Given the description of an element on the screen output the (x, y) to click on. 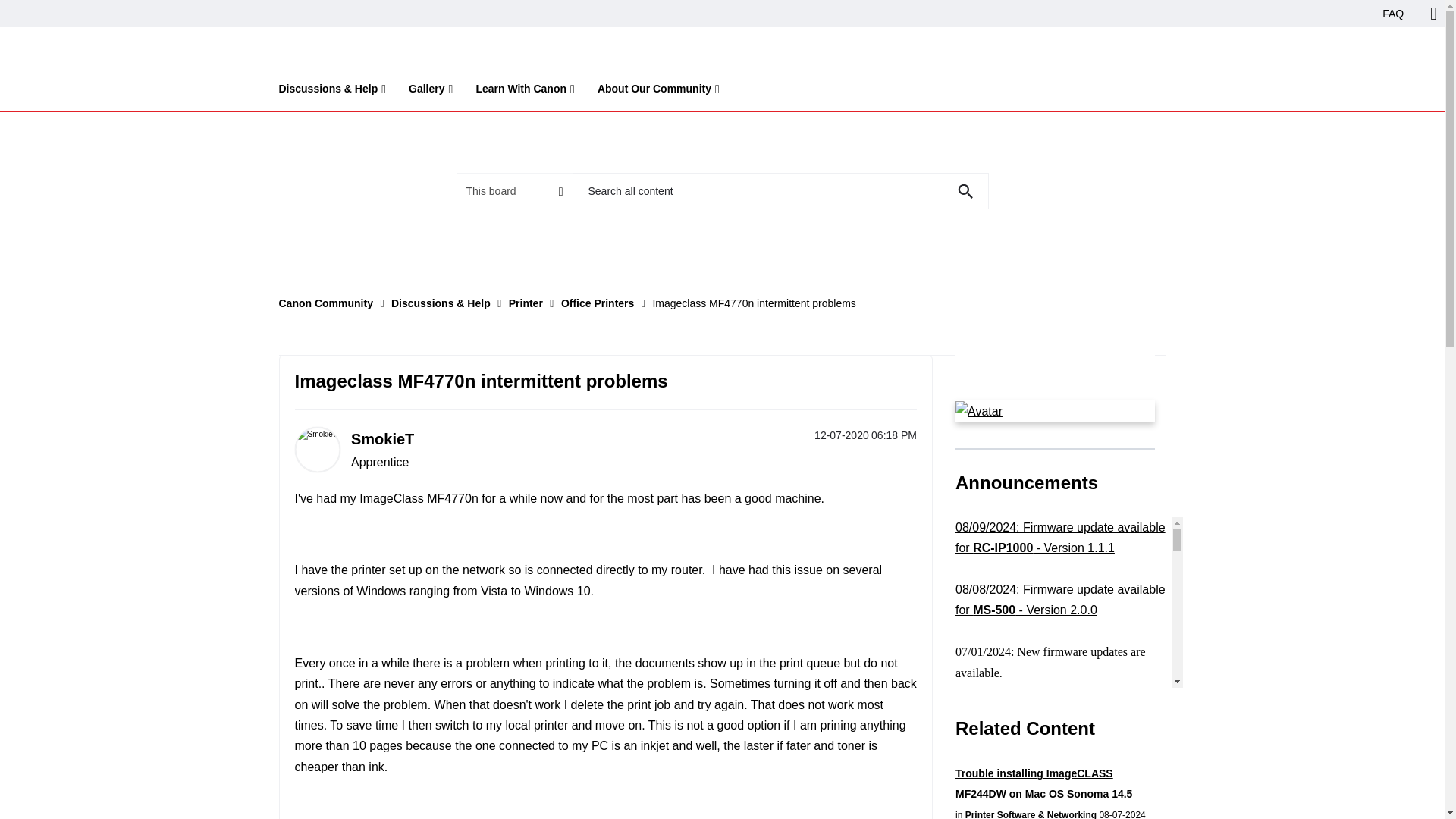
FAQ (1393, 13)
Search (964, 190)
Search (964, 190)
Search Granularity (514, 190)
SmokieT (316, 449)
Search (964, 190)
Gallery (430, 91)
Search (780, 190)
Learn With Canon (525, 91)
About Our Community (657, 91)
